Given the description of an element on the screen output the (x, y) to click on. 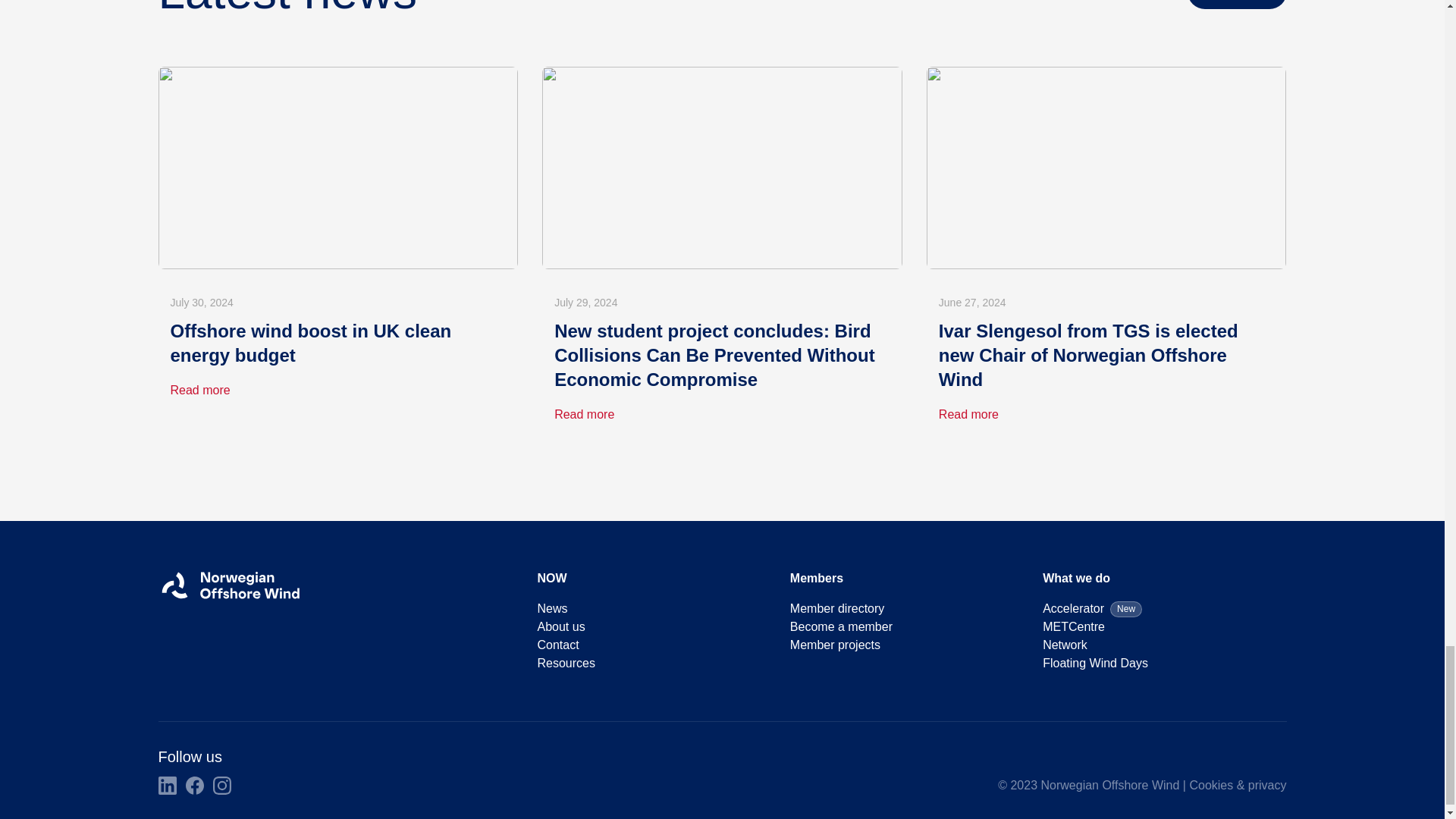
Read more (200, 390)
Read more (584, 413)
News (552, 608)
Contact (557, 644)
See all news (1237, 4)
About us (561, 626)
Read more (968, 413)
